Given the description of an element on the screen output the (x, y) to click on. 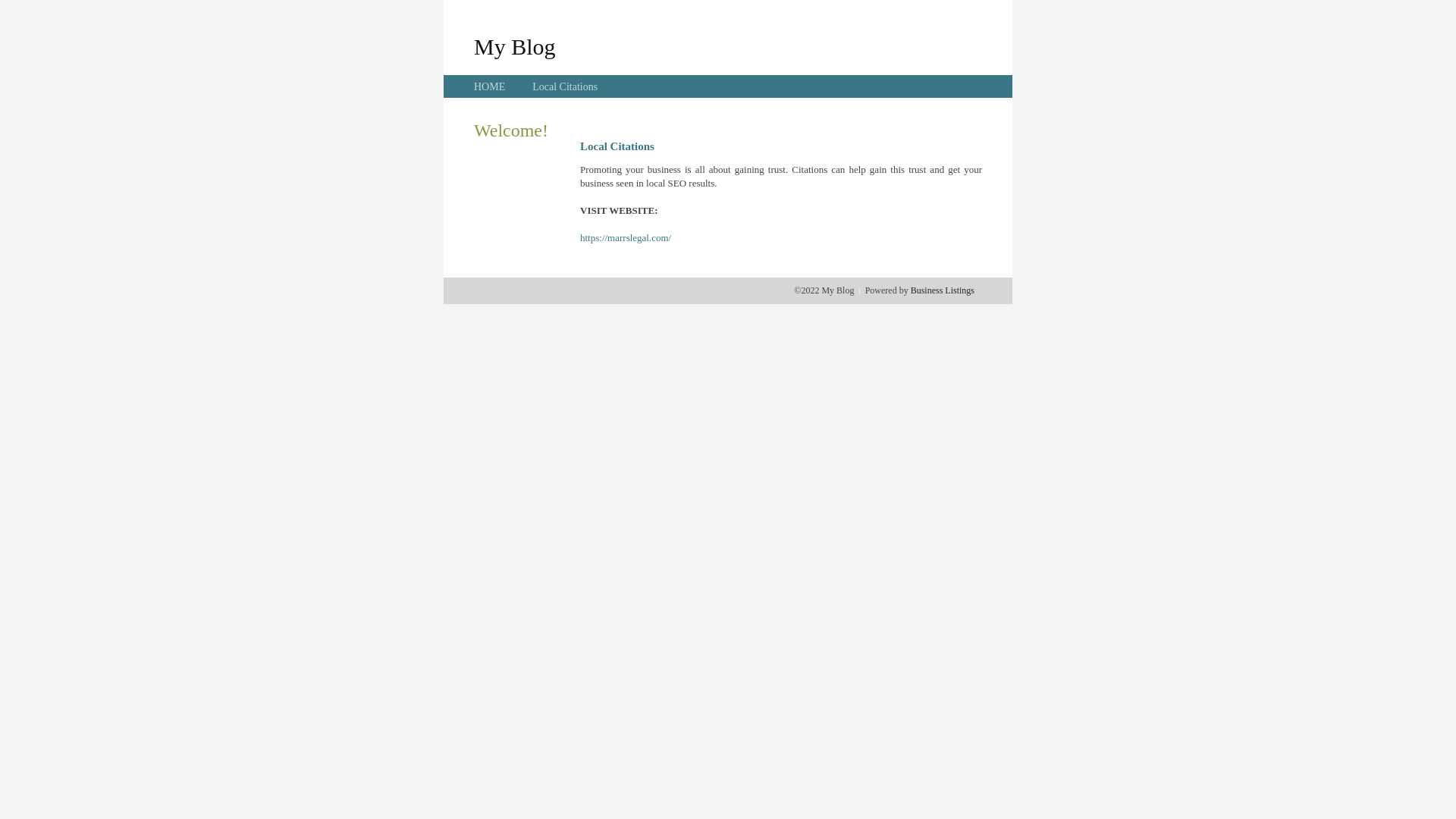
My Blog Element type: text (514, 46)
HOME Element type: text (489, 86)
Business Listings Element type: text (942, 290)
Local Citations Element type: text (564, 86)
https://marrslegal.com/ Element type: text (625, 237)
